Given the description of an element on the screen output the (x, y) to click on. 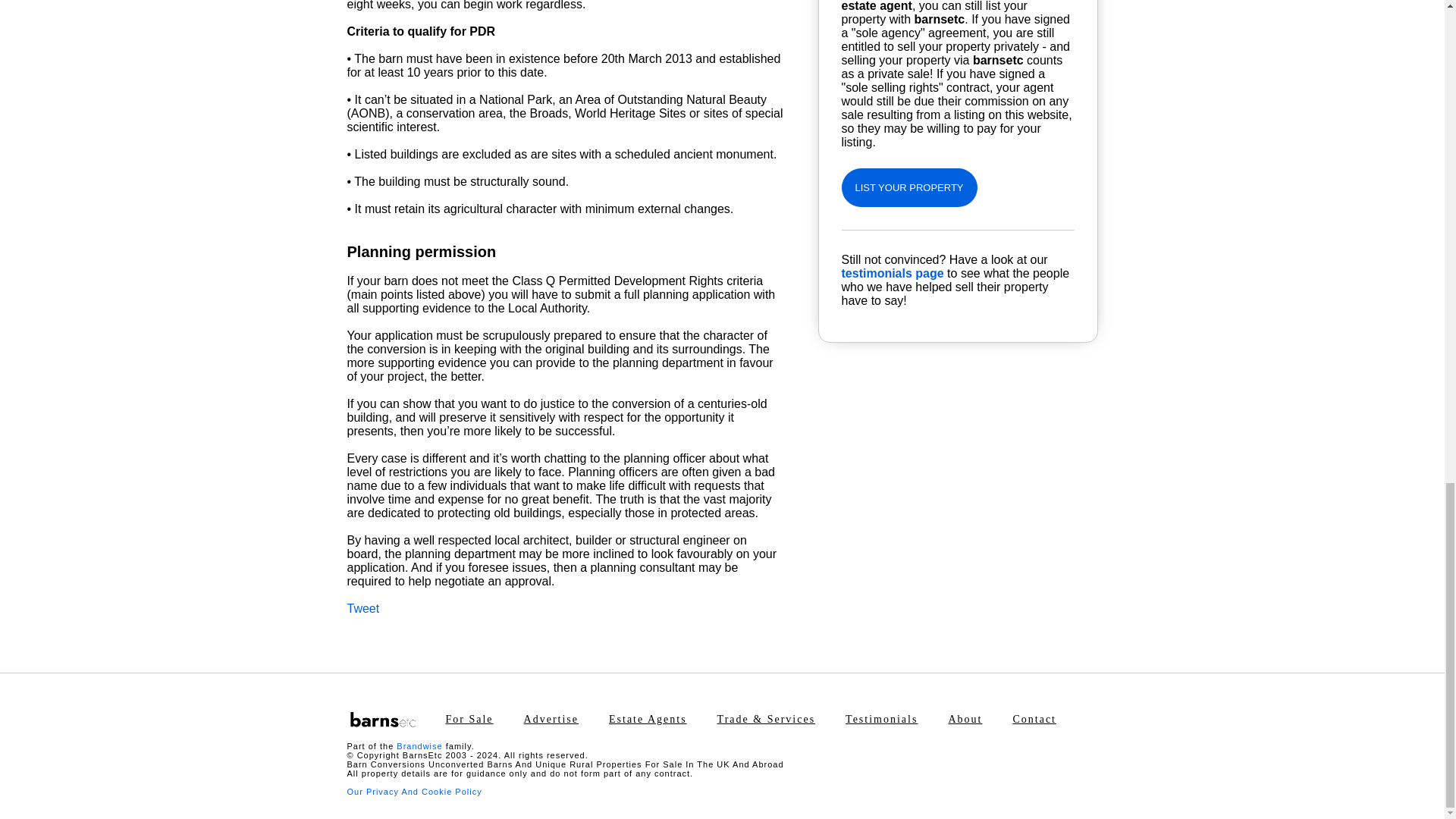
LIST YOUR PROPERTY (908, 187)
Brandwise (419, 746)
Our Privacy And Cookie Policy (414, 791)
LIST YOUR PROPERTY (908, 186)
testimonials page (892, 273)
Tweet (363, 608)
